Given the description of an element on the screen output the (x, y) to click on. 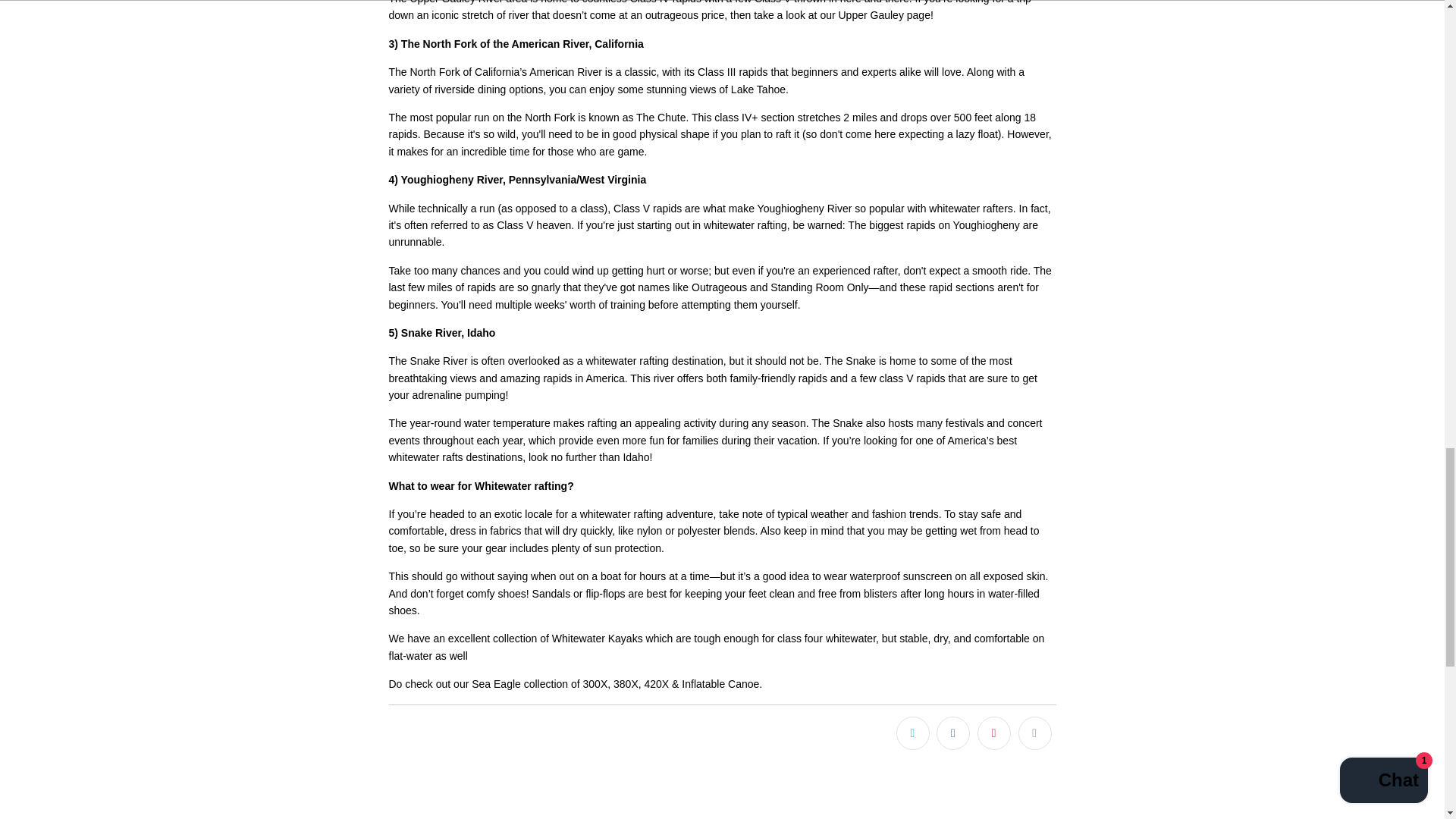
Share this on Twitter (913, 733)
Share this on Pinterest (993, 733)
Share this on Facebook (952, 733)
Email this to a friend (1034, 733)
